Given the description of an element on the screen output the (x, y) to click on. 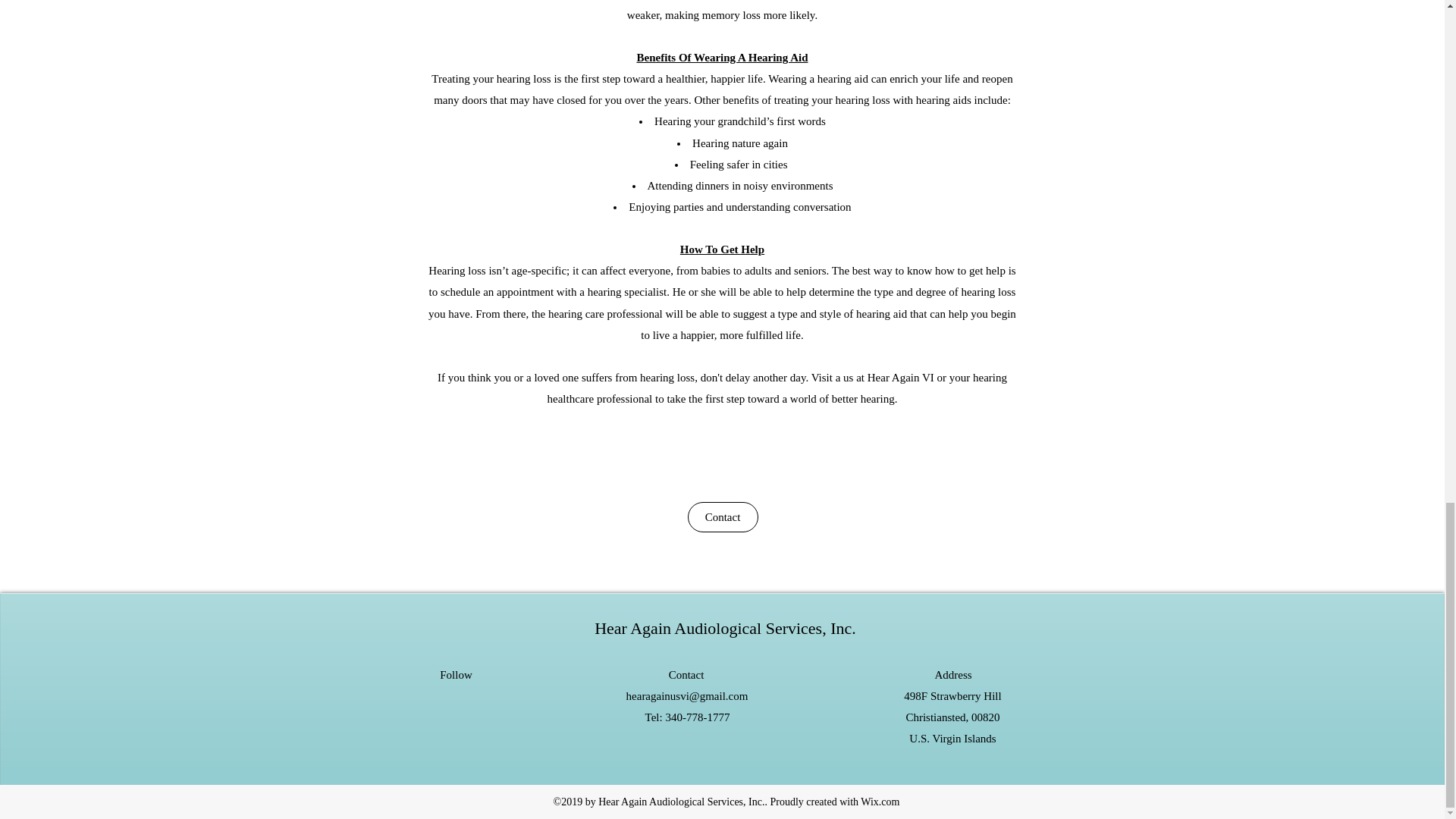
Contact (722, 517)
